Given the description of an element on the screen output the (x, y) to click on. 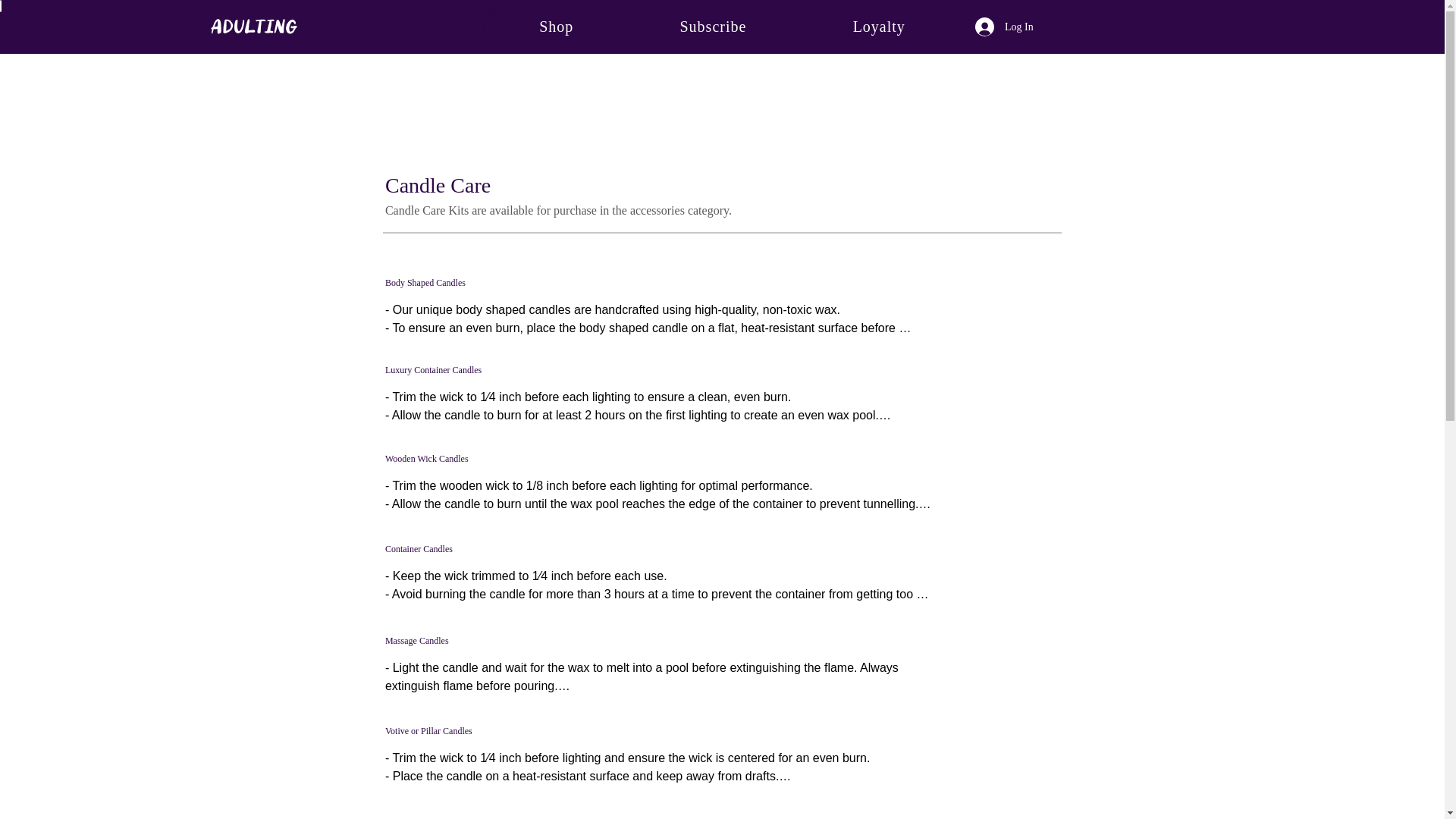
Log In (1003, 26)
Subscribe (712, 26)
Loyalty (879, 26)
Shop (556, 26)
